Given the description of an element on the screen output the (x, y) to click on. 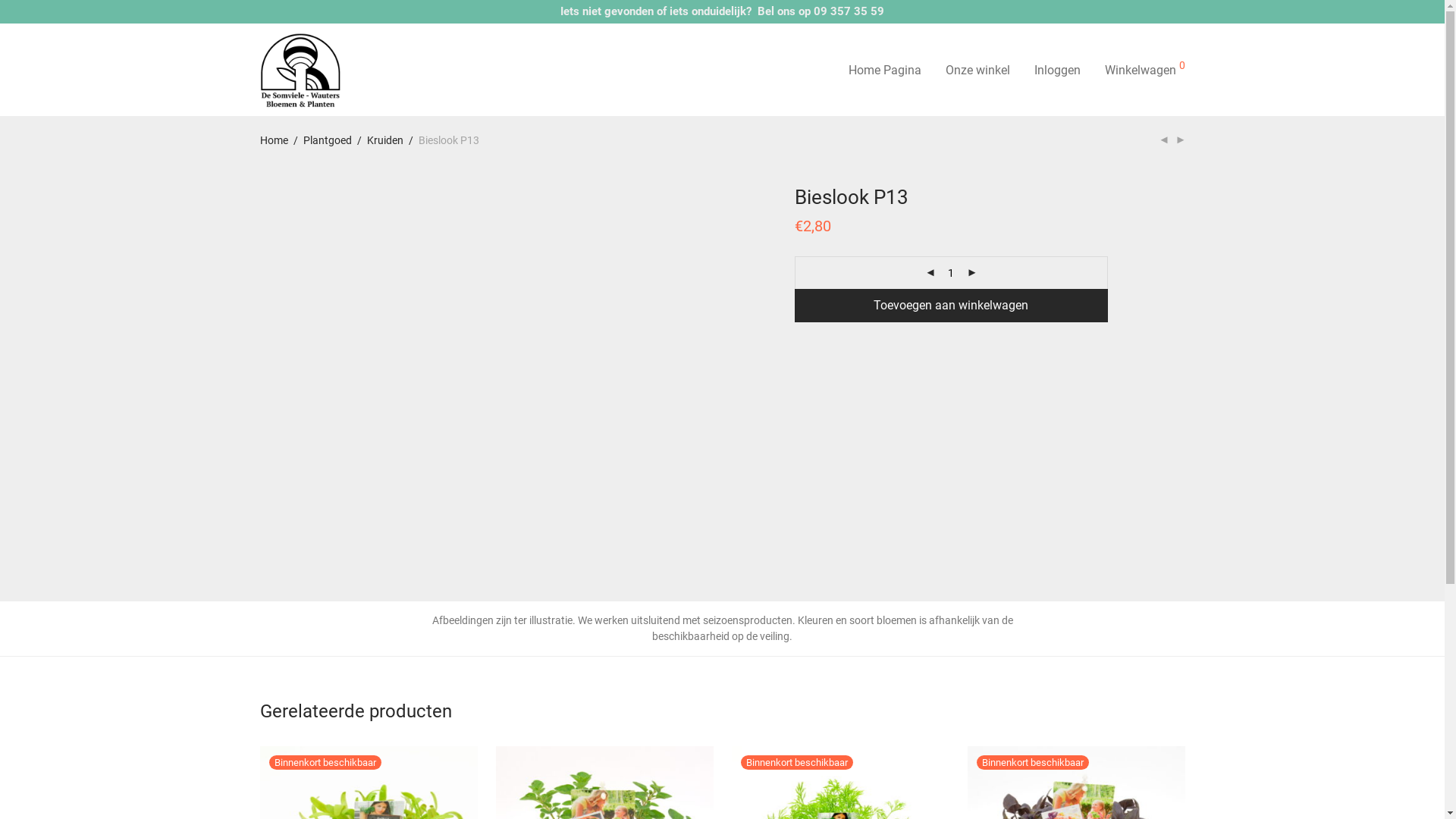
Plantgoed Element type: text (327, 139)
Home Element type: text (273, 139)
Onze winkel Element type: text (976, 70)
Inloggen Element type: text (1057, 70)
Home Pagina Element type: text (883, 70)
Winkelwagen 0 Element type: text (1144, 70)
Toevoegen aan winkelwagen Element type: text (950, 305)
Kruiden Element type: text (385, 139)
